Given the description of an element on the screen output the (x, y) to click on. 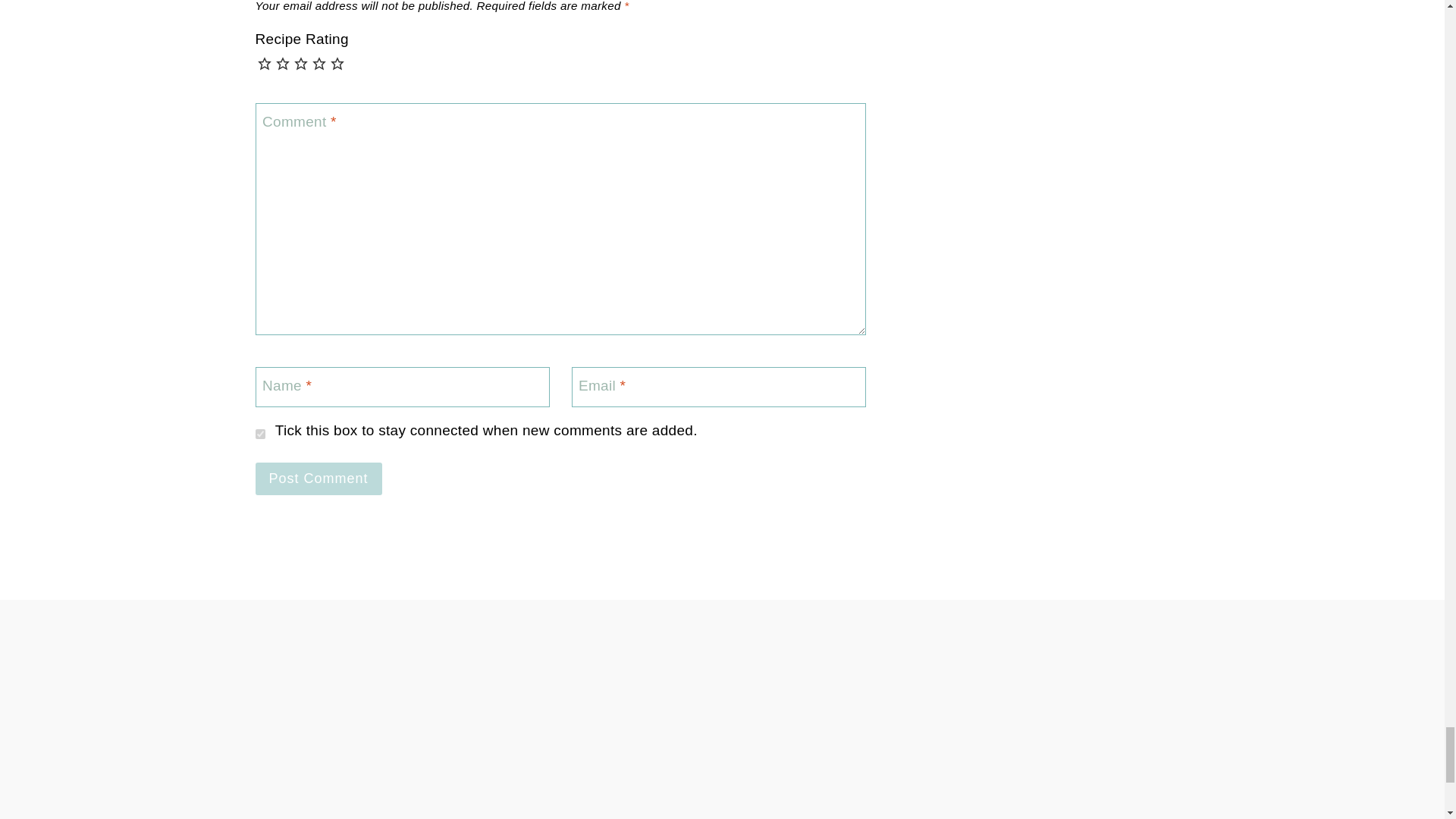
Post Comment (317, 478)
1 (259, 433)
